Given the description of an element on the screen output the (x, y) to click on. 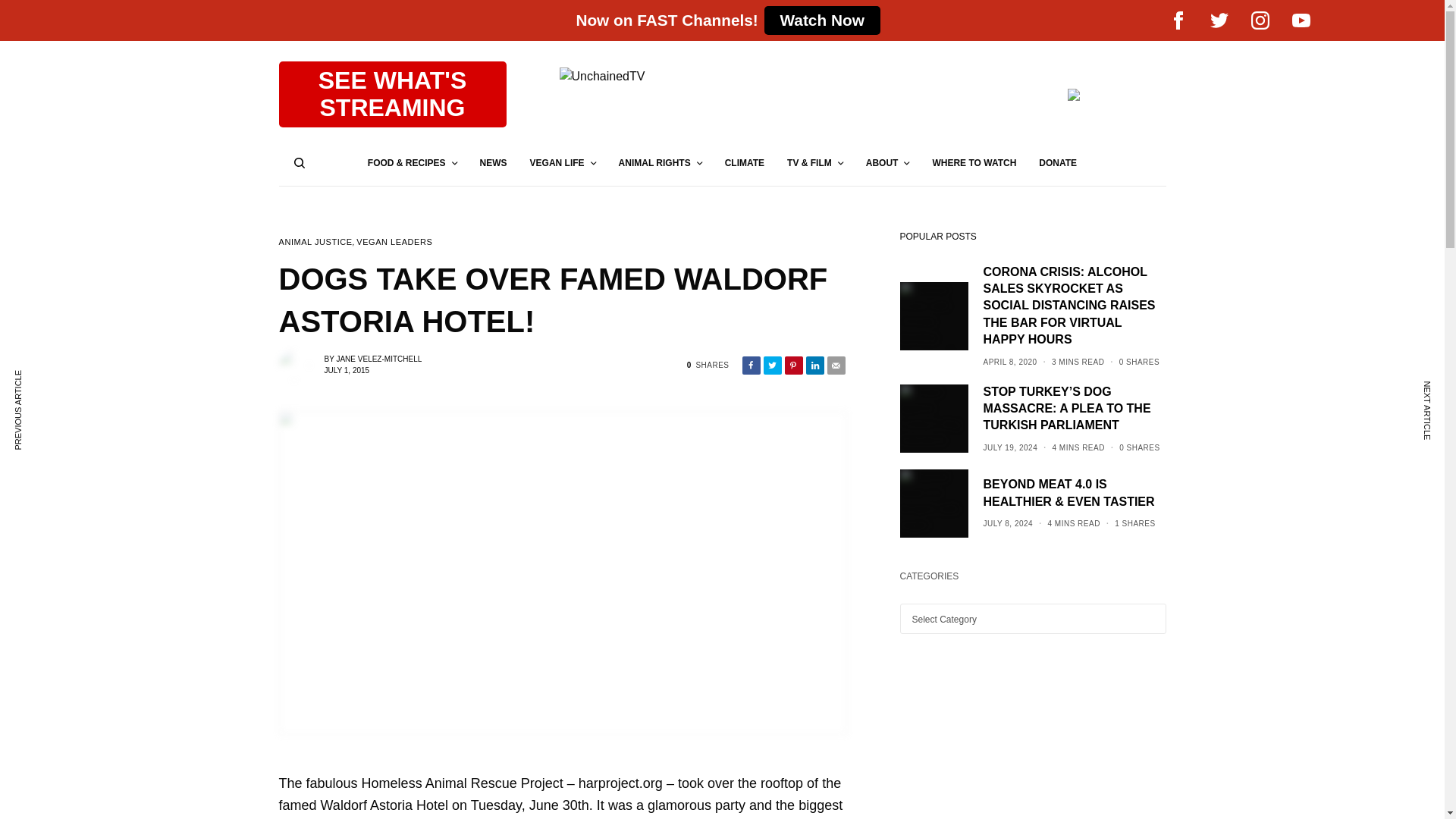
VEGAN LIFE (562, 162)
UnchainedTV (786, 94)
Posts by Jane Velez-Mitchell (392, 93)
Watch Now (379, 358)
